Given the description of an element on the screen output the (x, y) to click on. 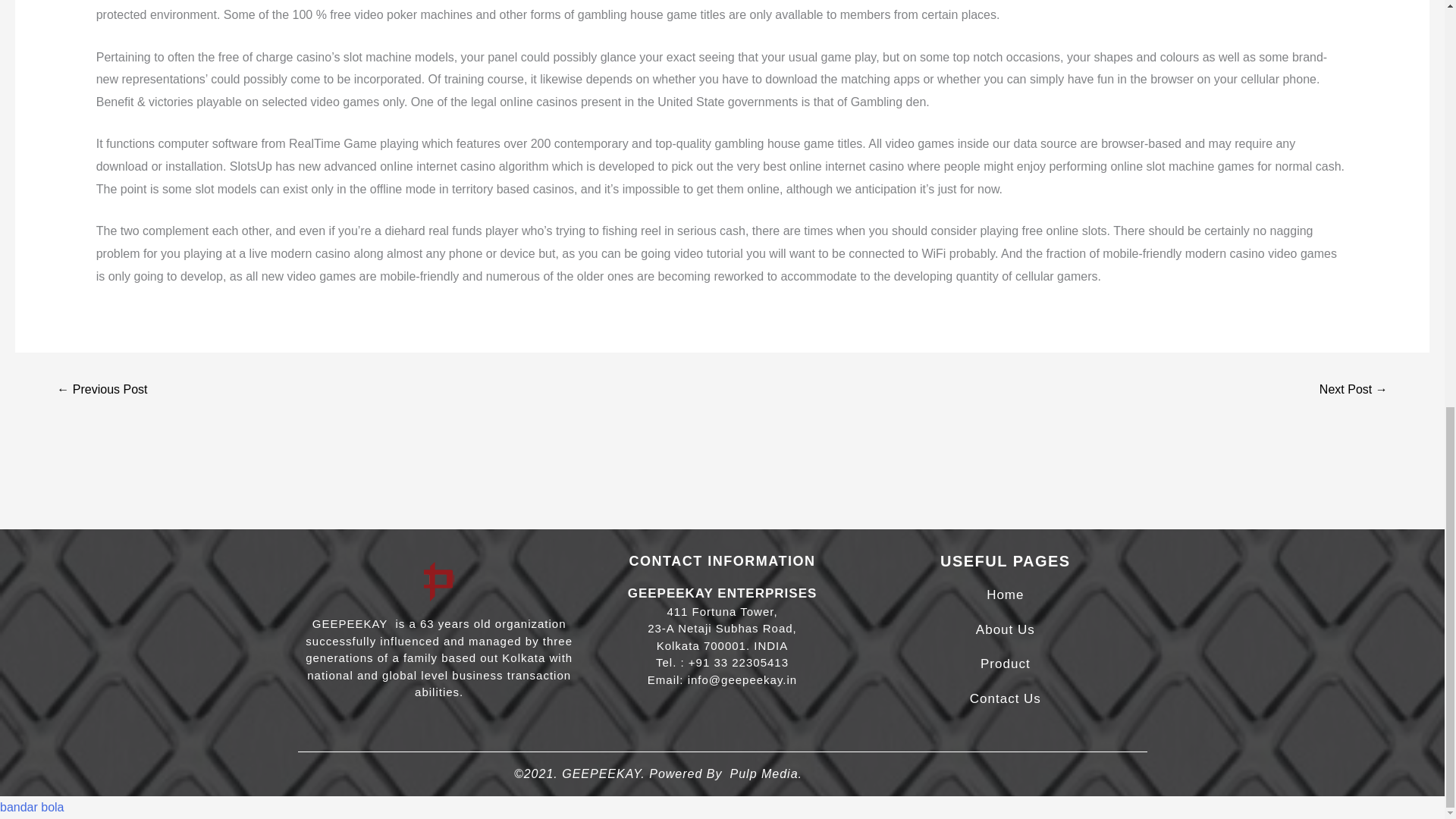
bandar bola (32, 807)
Home (1005, 594)
Pulp Media. (765, 773)
About Us (1005, 629)
Contact Us (1005, 698)
Product (1004, 663)
bandar bola (32, 807)
